Given the description of an element on the screen output the (x, y) to click on. 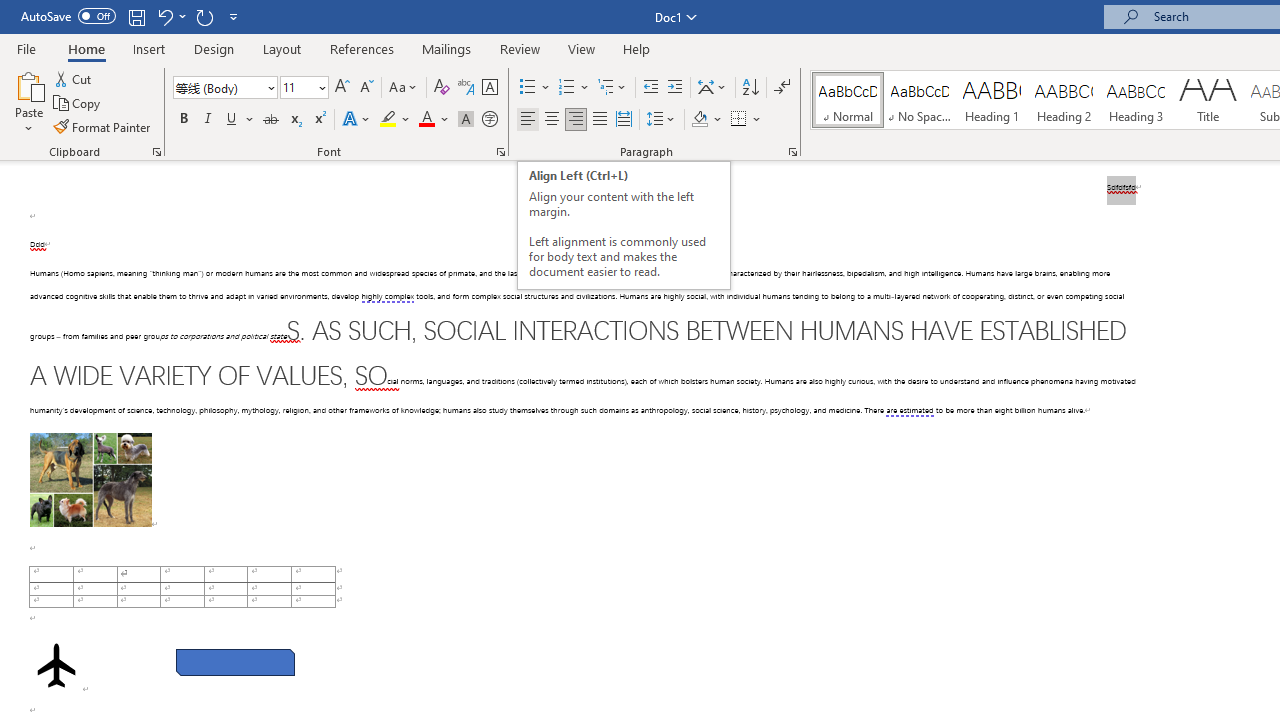
Font Color Red (426, 119)
Heading 2 (1063, 100)
